Given the description of an element on the screen output the (x, y) to click on. 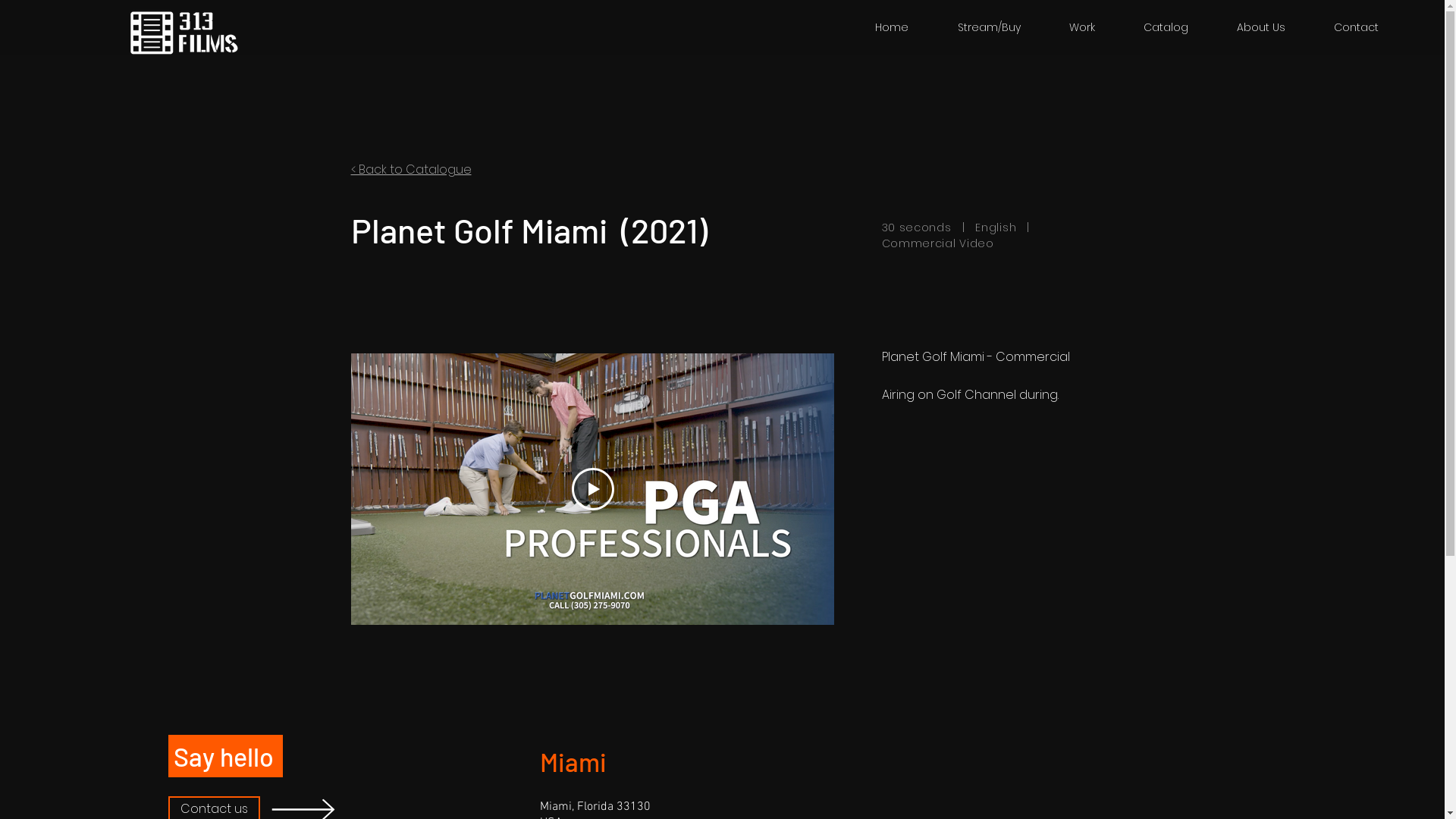
Work Element type: text (1081, 26)
Contact Element type: text (1355, 26)
Stream/Buy Element type: text (988, 26)
Home Element type: text (891, 26)
< Back to Catalogue Element type: text (410, 169)
Catalog Element type: text (1165, 26)
About Us Element type: text (1260, 26)
